Given the description of an element on the screen output the (x, y) to click on. 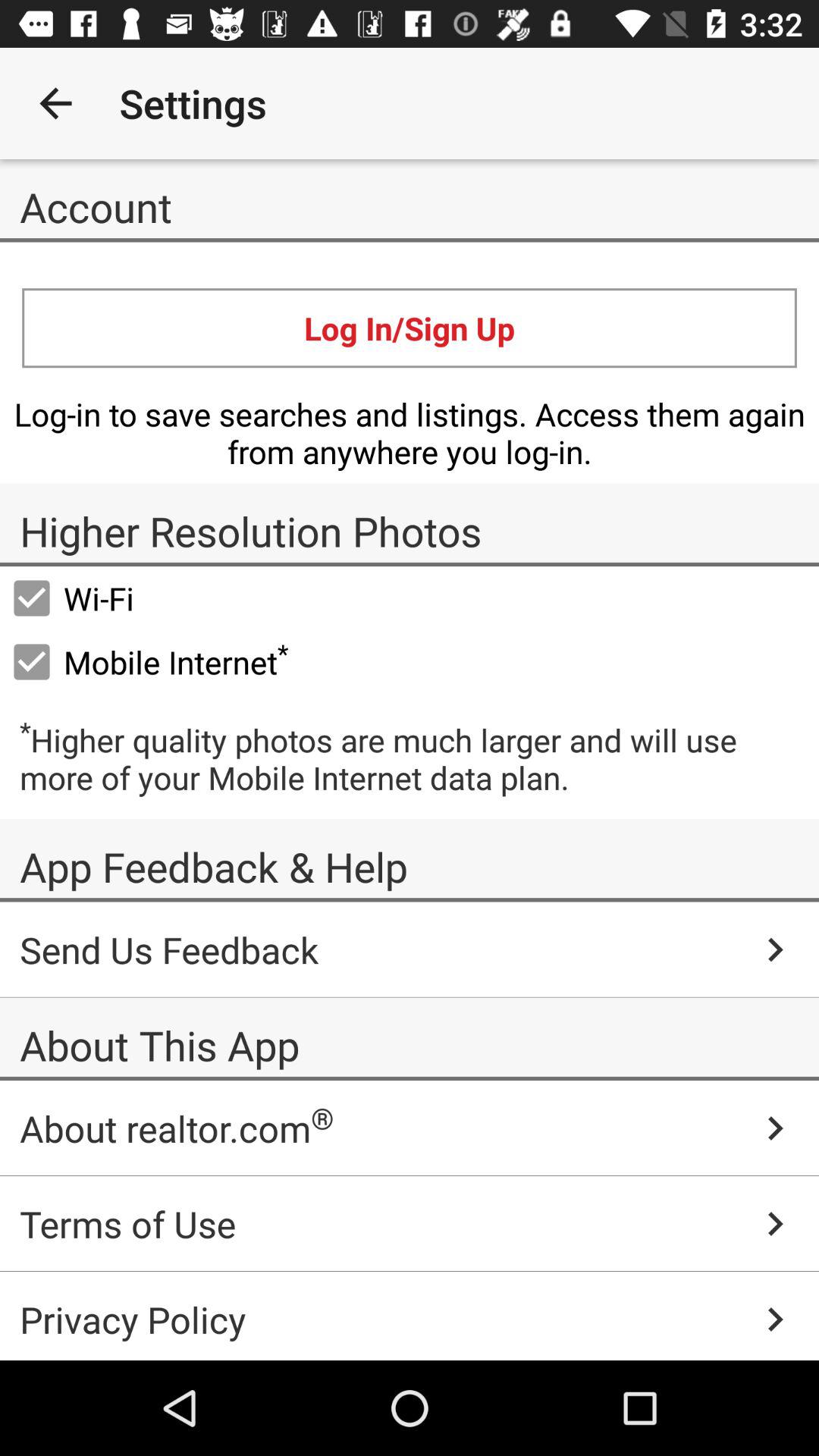
turn on wi-fi (72, 598)
